Given the description of an element on the screen output the (x, y) to click on. 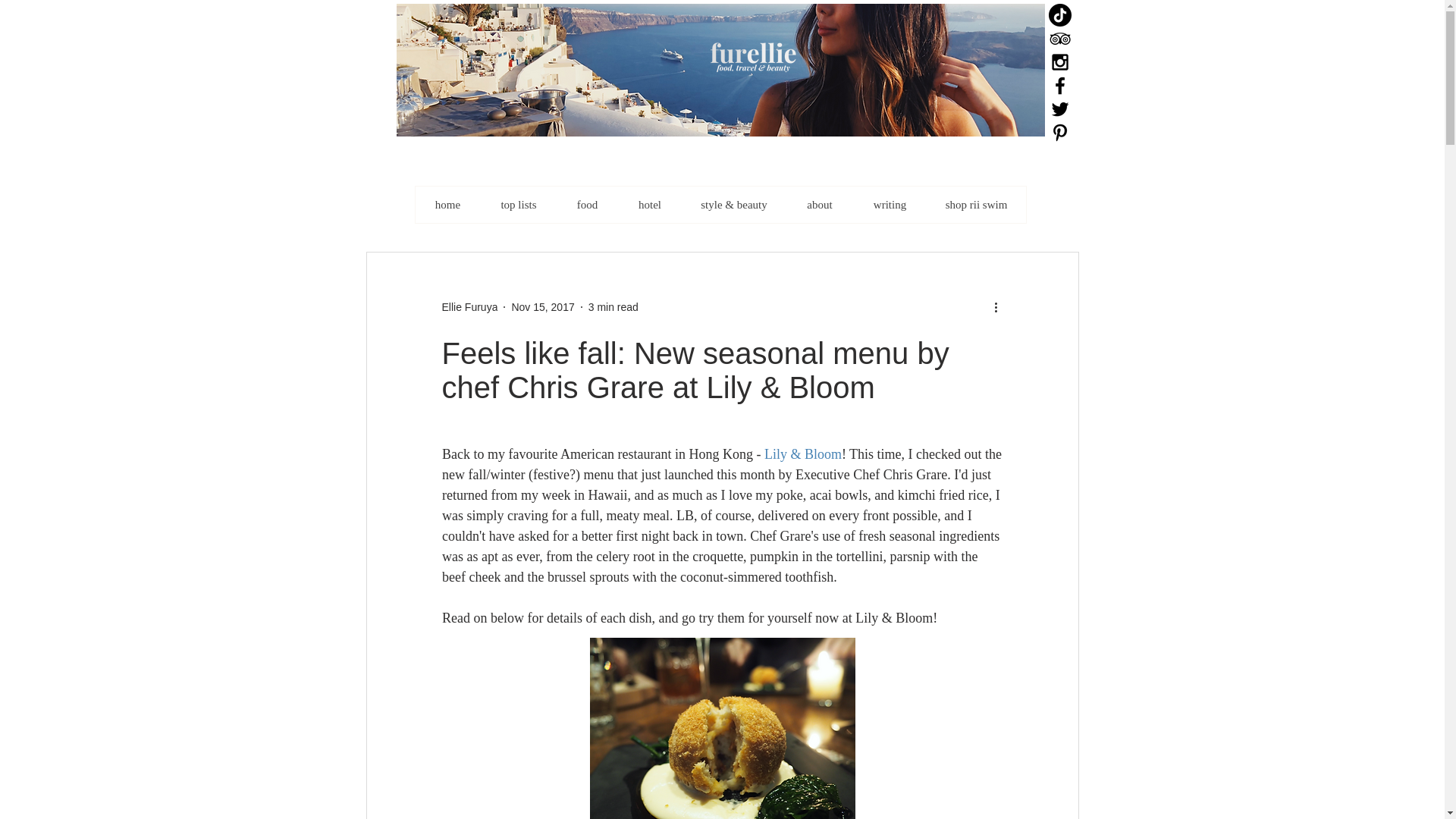
Nov 15, 2017 (542, 306)
top lists (518, 204)
hotel (649, 204)
Ellie Furuya (469, 306)
writing (888, 204)
about (818, 204)
3 min read (613, 306)
shop rii swim (976, 204)
home (447, 204)
Ellie Furuya (469, 306)
